Given the description of an element on the screen output the (x, y) to click on. 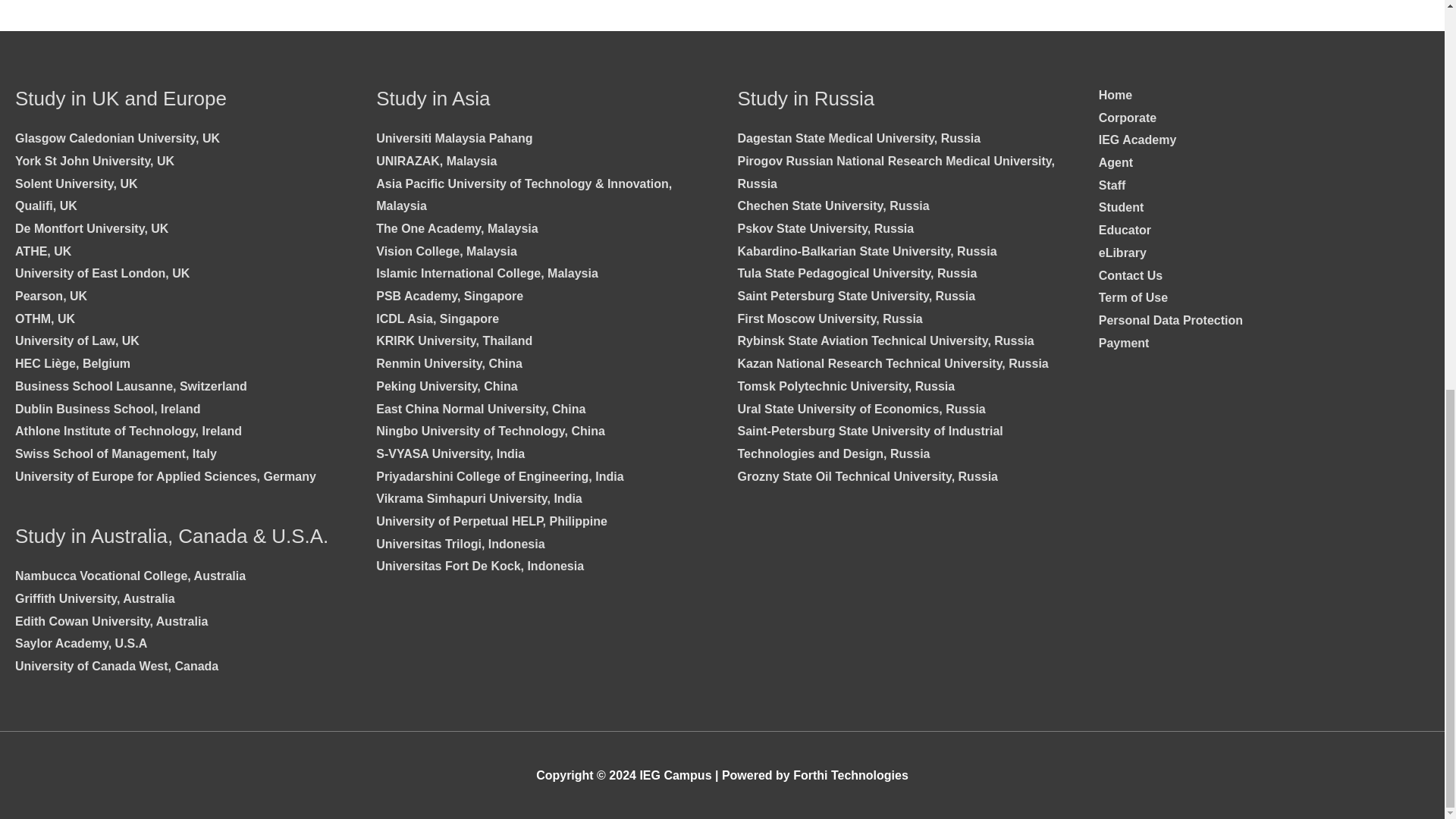
University of Law, UK (76, 340)
Griffith University, Australia (94, 598)
Qualifi, UK (45, 205)
Glasgow Caledonian University, UK (116, 137)
University of East London, UK (101, 273)
Dublin Business School, Ireland (107, 408)
ICDL Asia, Singapore (437, 318)
UNIRAZAK, Malaysia (435, 160)
Edith Cowan University, Australia (111, 621)
University of Europe for Applied Sciences, Germany (164, 476)
The One Academy, Malaysia (456, 228)
Swiss School of Management, Italy (115, 453)
Pearson, UK (50, 295)
Nambucca Vocational College, Australia (130, 575)
Athlone Institute of Technology, Ireland (127, 431)
